Given the description of an element on the screen output the (x, y) to click on. 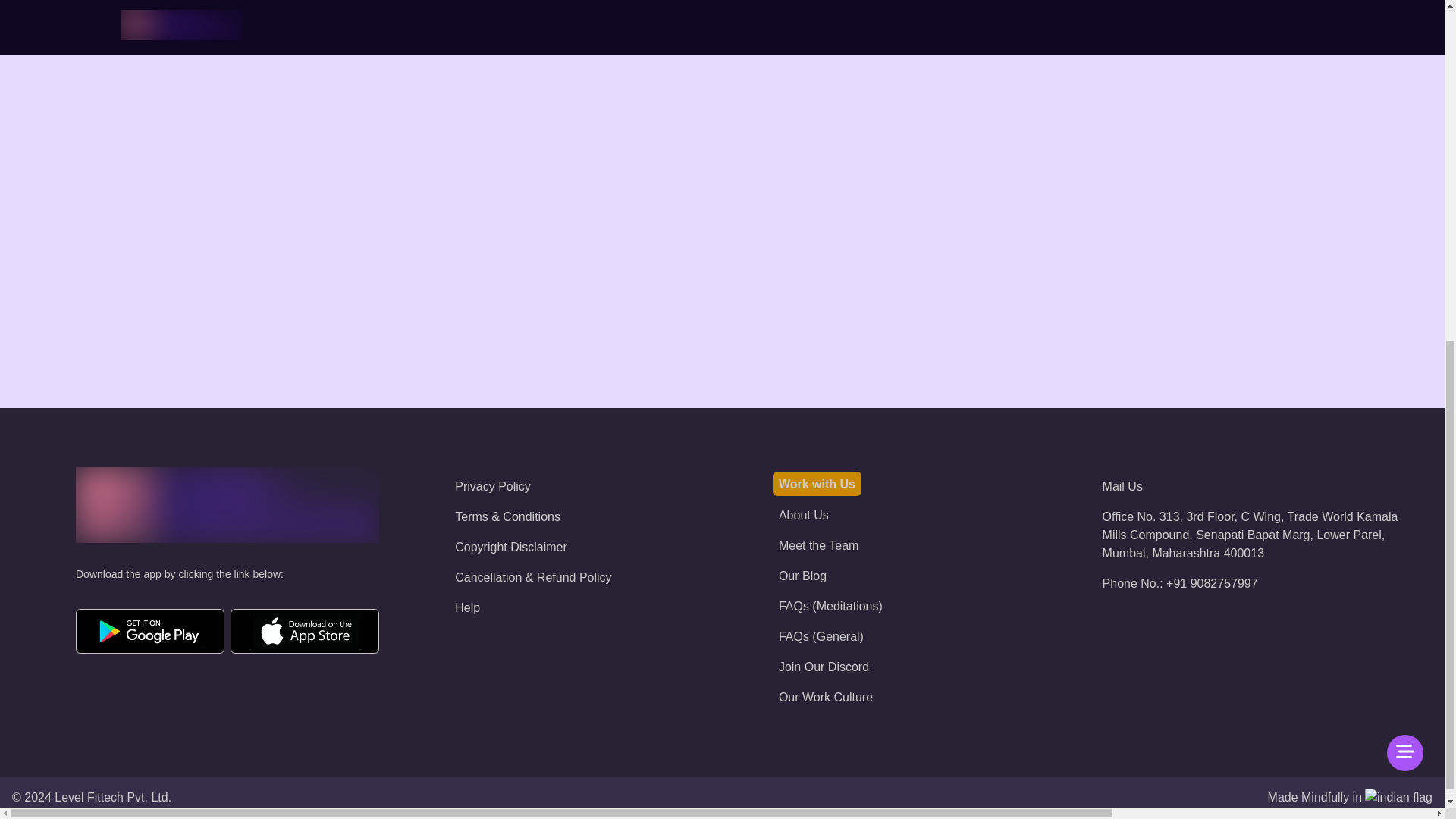
About Us (803, 514)
Privacy Policy (492, 486)
Mail Us (1122, 486)
Join Our Discord (823, 666)
Our Work Culture (825, 697)
Copyright Disclaimer (510, 546)
Help (467, 607)
Work with Us (817, 483)
Our Blog (802, 575)
Meet the Team (818, 545)
